Given the description of an element on the screen output the (x, y) to click on. 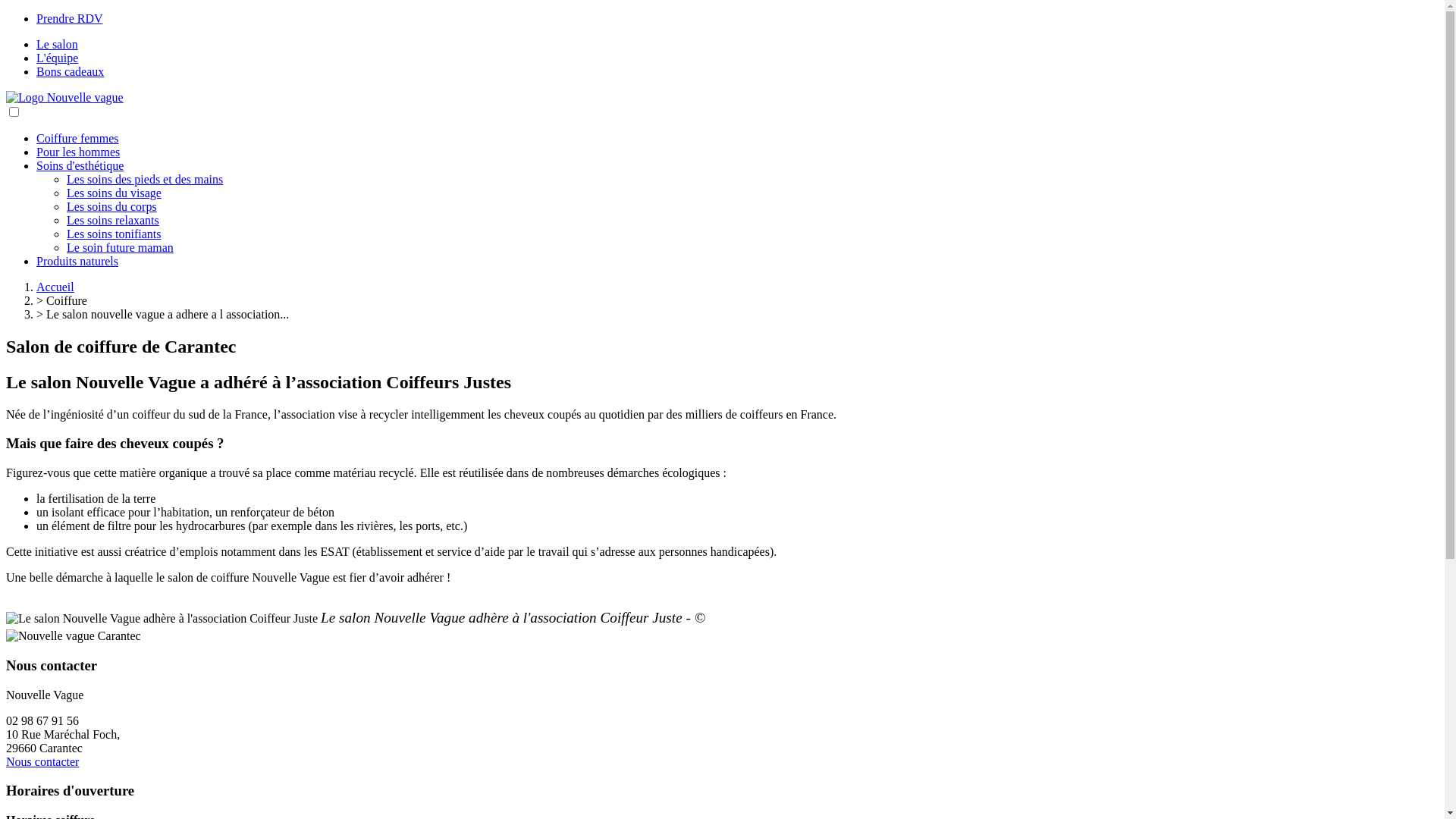
Bons cadeaux Element type: text (69, 71)
Les soins des pieds et des mains Element type: text (144, 178)
Les soins du corps Element type: text (111, 206)
Les soins tonifiants Element type: text (113, 233)
Le soin future maman Element type: text (119, 247)
Coiffure femmes Element type: text (77, 137)
Nous contacter Element type: text (42, 761)
Prendre RDV Element type: text (69, 18)
Logo Element type: hover (64, 97)
Les soins du visage Element type: text (113, 192)
Les soins relaxants Element type: text (112, 219)
Accueil Element type: text (55, 286)
Le salon Element type: text (57, 43)
Pour les hommes Element type: text (77, 151)
Produits naturels Element type: text (77, 260)
